Given the description of an element on the screen output the (x, y) to click on. 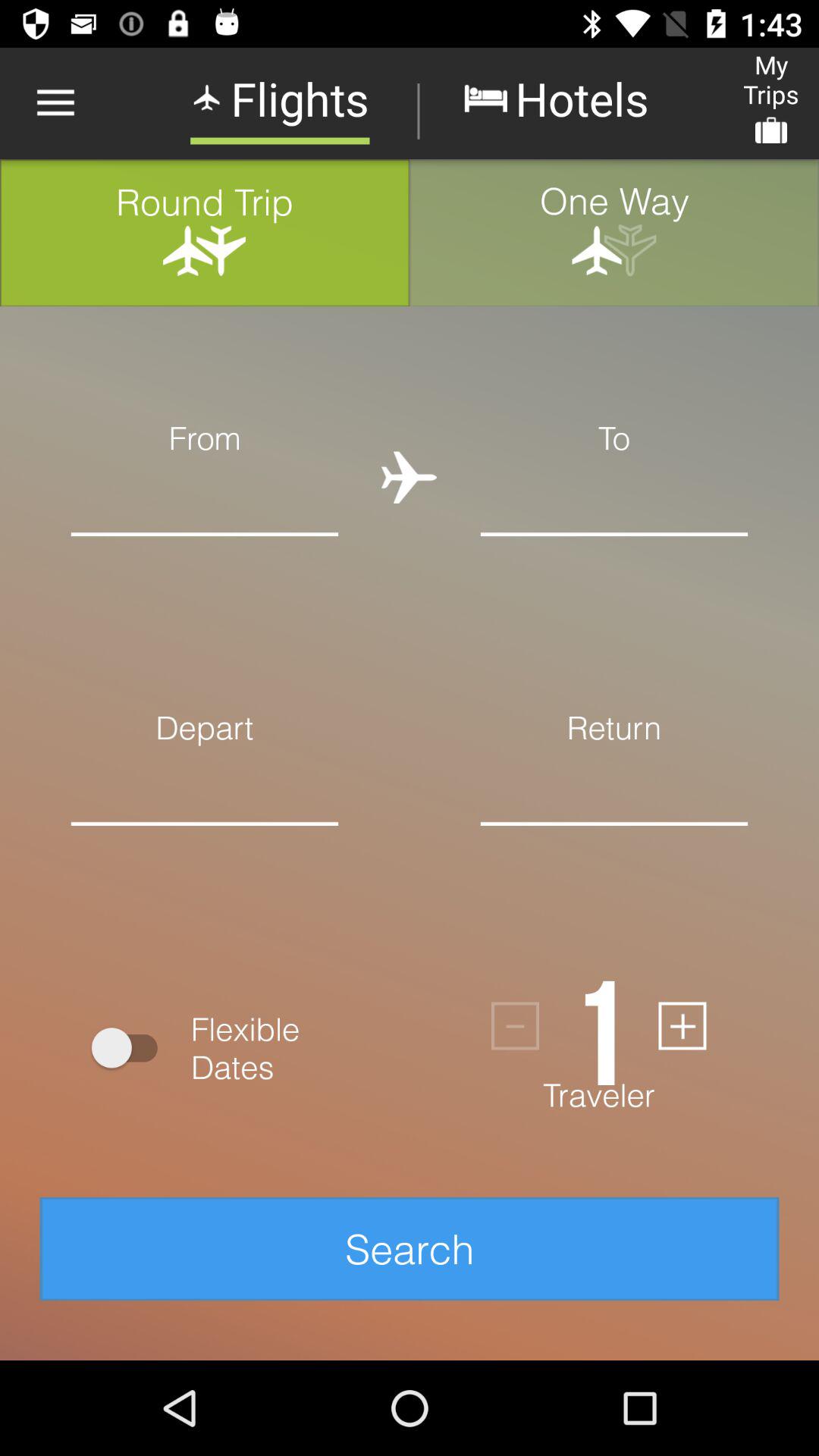
return date of flight (613, 847)
